Given the description of an element on the screen output the (x, y) to click on. 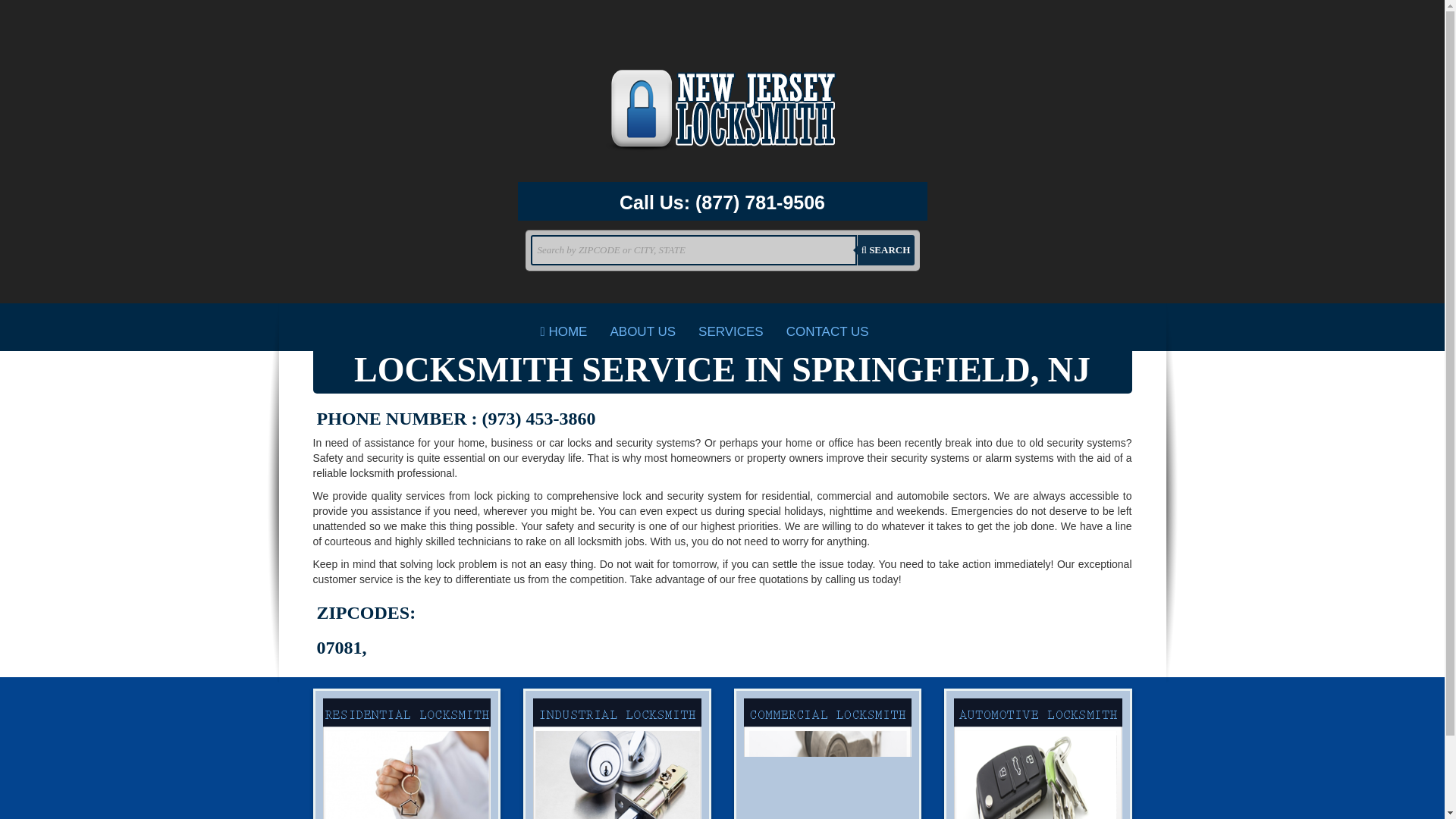
ABOUT US (642, 331)
Residential Locksmith (406, 753)
SEARCH (885, 250)
SERVICES (730, 331)
CONTACT US (827, 331)
HOME (563, 331)
Automotive Locksmith (1037, 753)
Commercial Locksmith (827, 753)
Industrial Locksmith (616, 753)
